Given the description of an element on the screen output the (x, y) to click on. 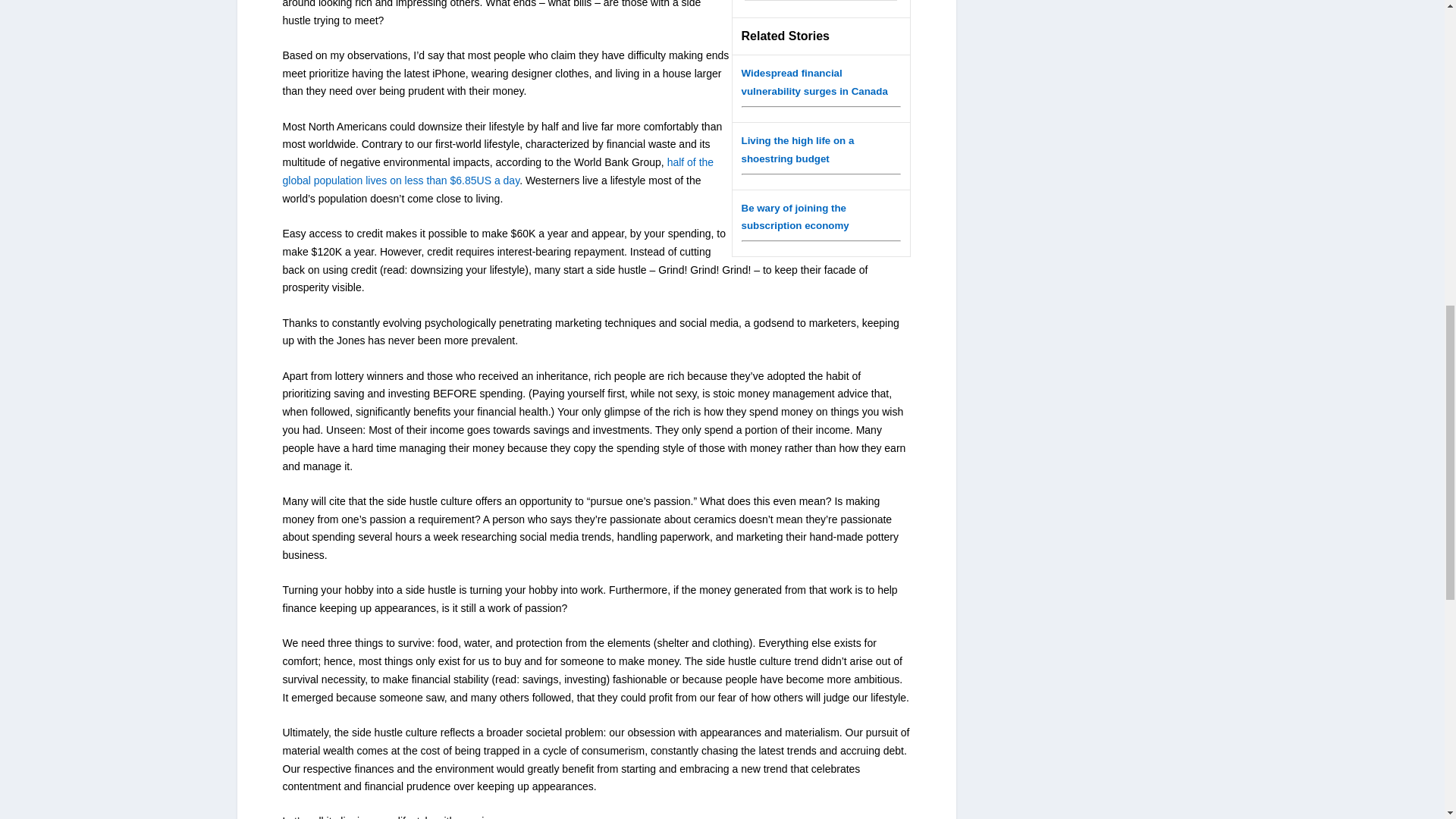
Widespread financial vulnerability surges in Canada (814, 81)
Be wary of joining the subscription economy (794, 216)
Living the high life on a shoestring budget (797, 149)
